Given the description of an element on the screen output the (x, y) to click on. 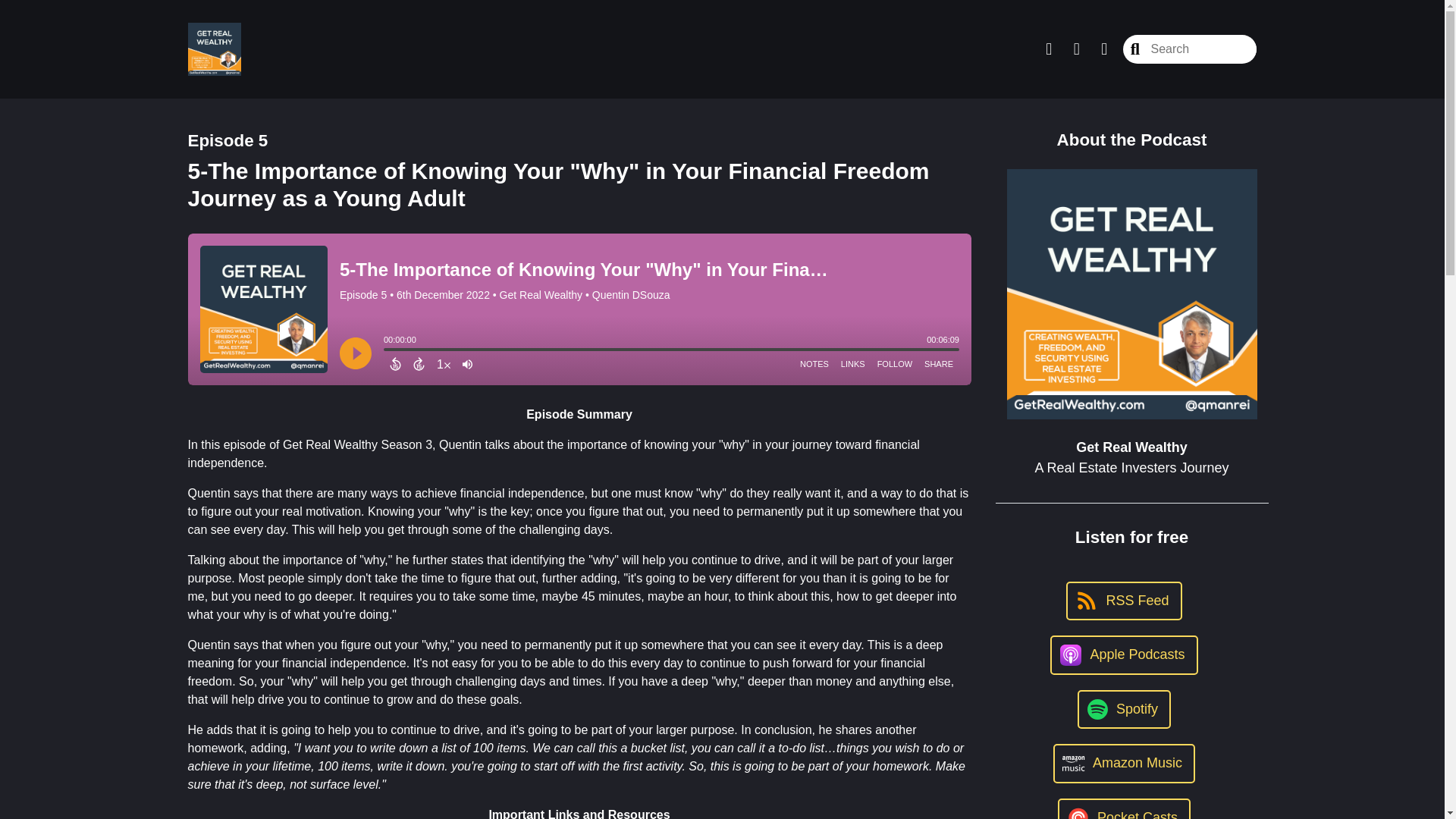
Pocket Casts (1124, 808)
RSS Feed (1122, 600)
Apple Podcasts (1122, 654)
Spotify (1123, 709)
Amazon Music (1123, 762)
